Given the description of an element on the screen output the (x, y) to click on. 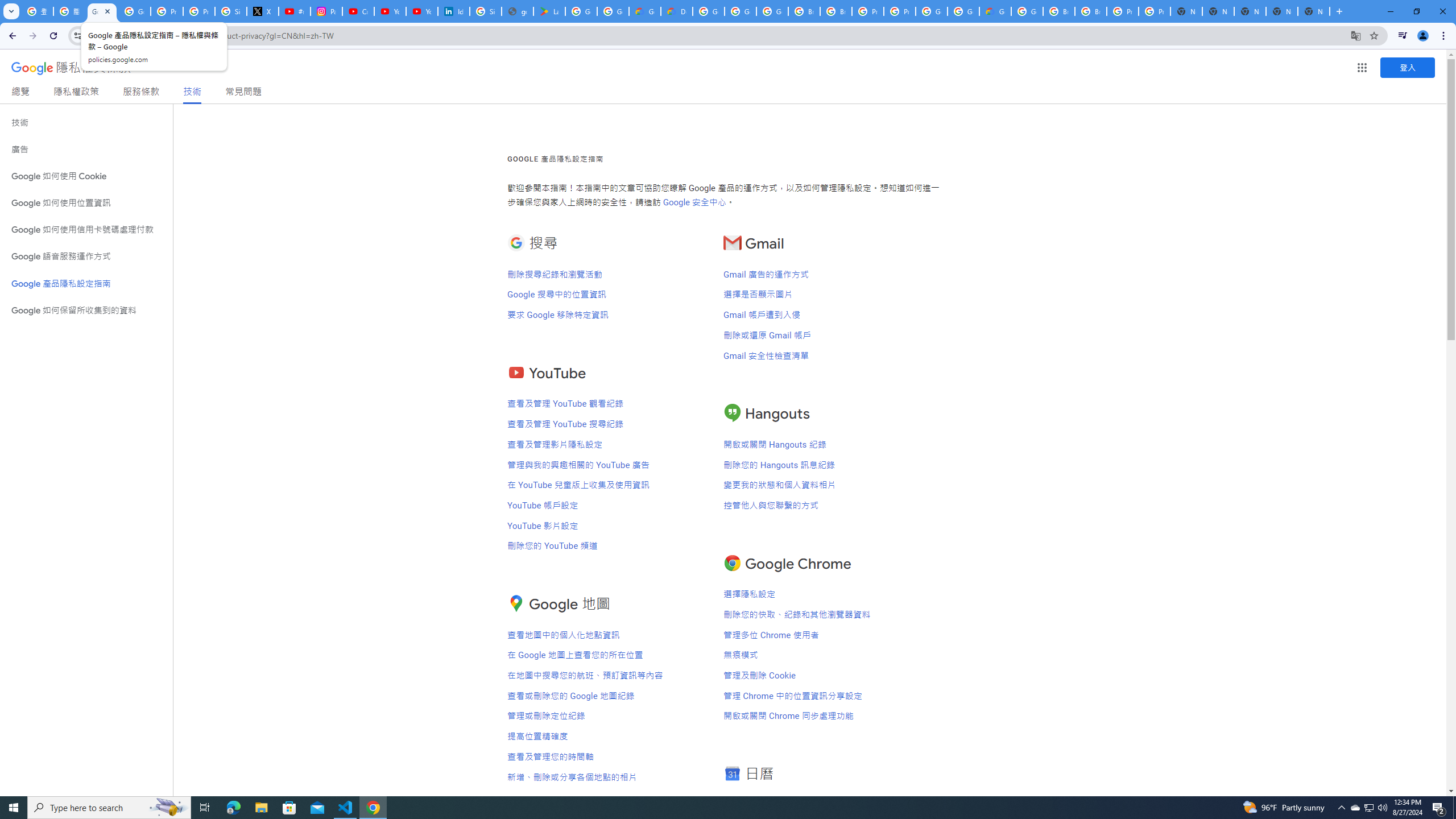
Google Workspace - Specific Terms (613, 11)
Browse Chrome as a guest - Computer - Google Chrome Help (804, 11)
Google Cloud Platform (963, 11)
